Given the description of an element on the screen output the (x, y) to click on. 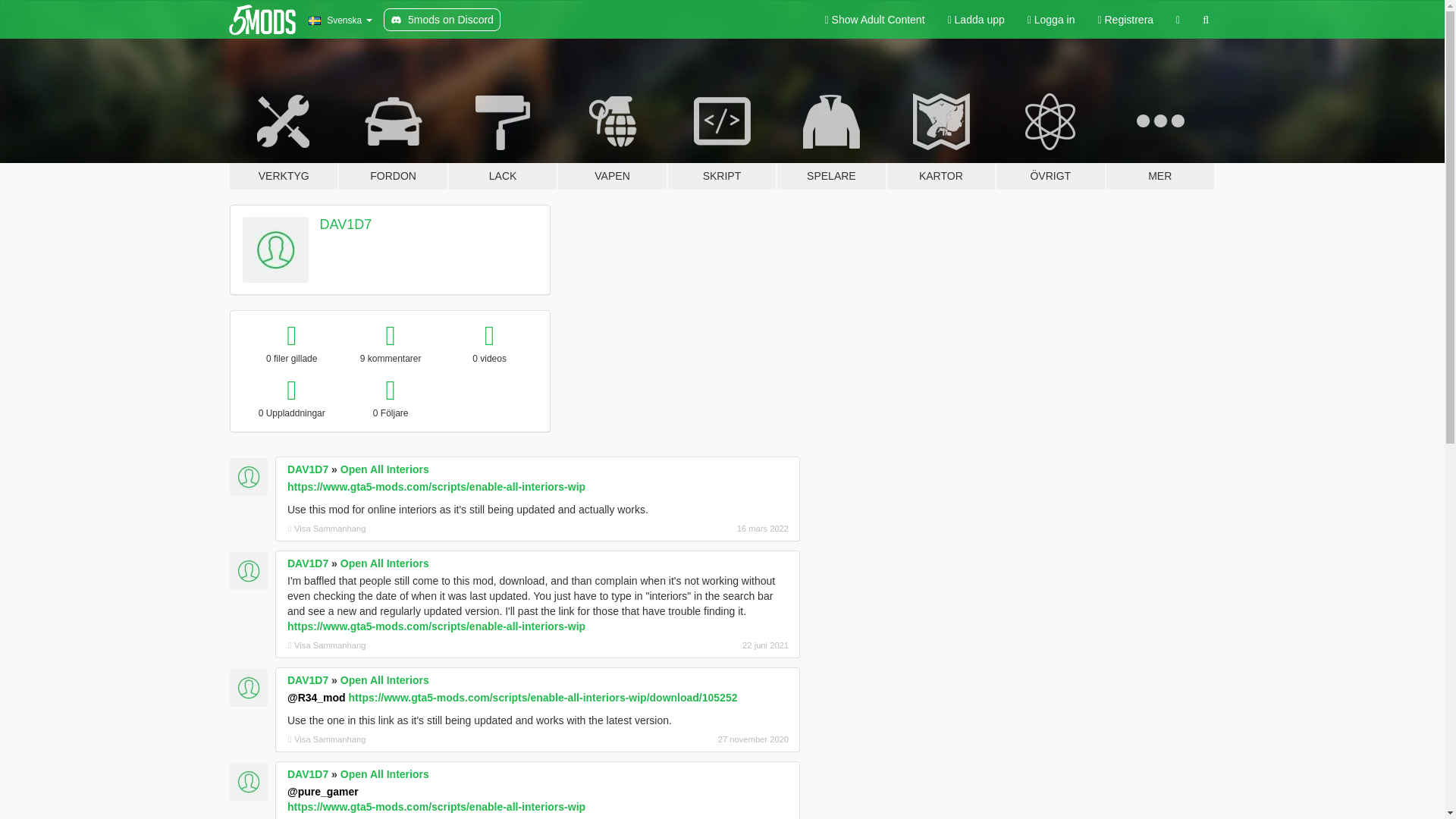
Logga in (1051, 19)
Ladda upp (976, 19)
Dark mode (1177, 19)
  Svenska (339, 19)
Show Adult Content (874, 19)
Registrera (1125, 19)
Light mode (874, 19)
5mods on Discord (442, 19)
